Given the description of an element on the screen output the (x, y) to click on. 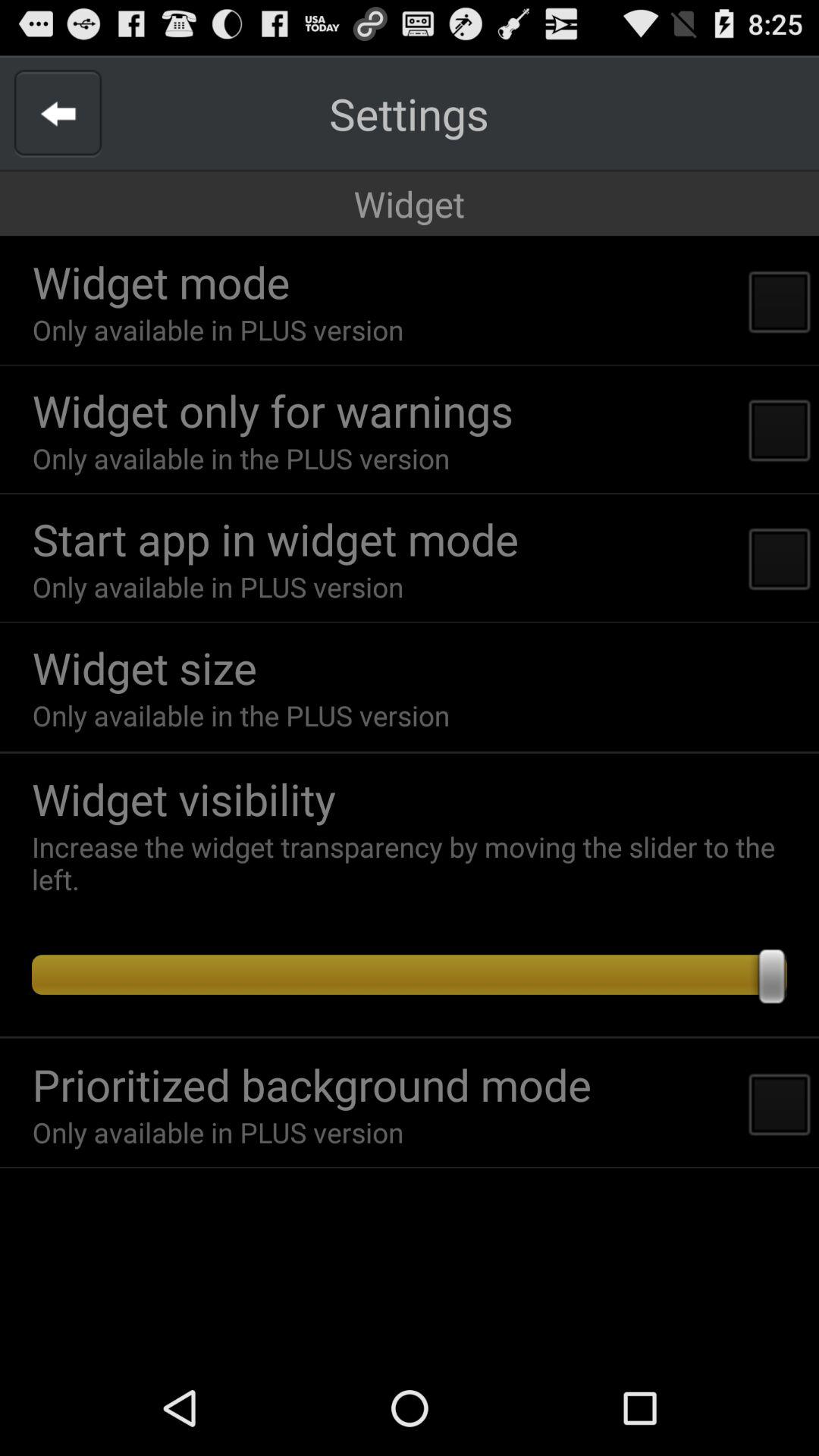
flip until widget only for (272, 410)
